Given the description of an element on the screen output the (x, y) to click on. 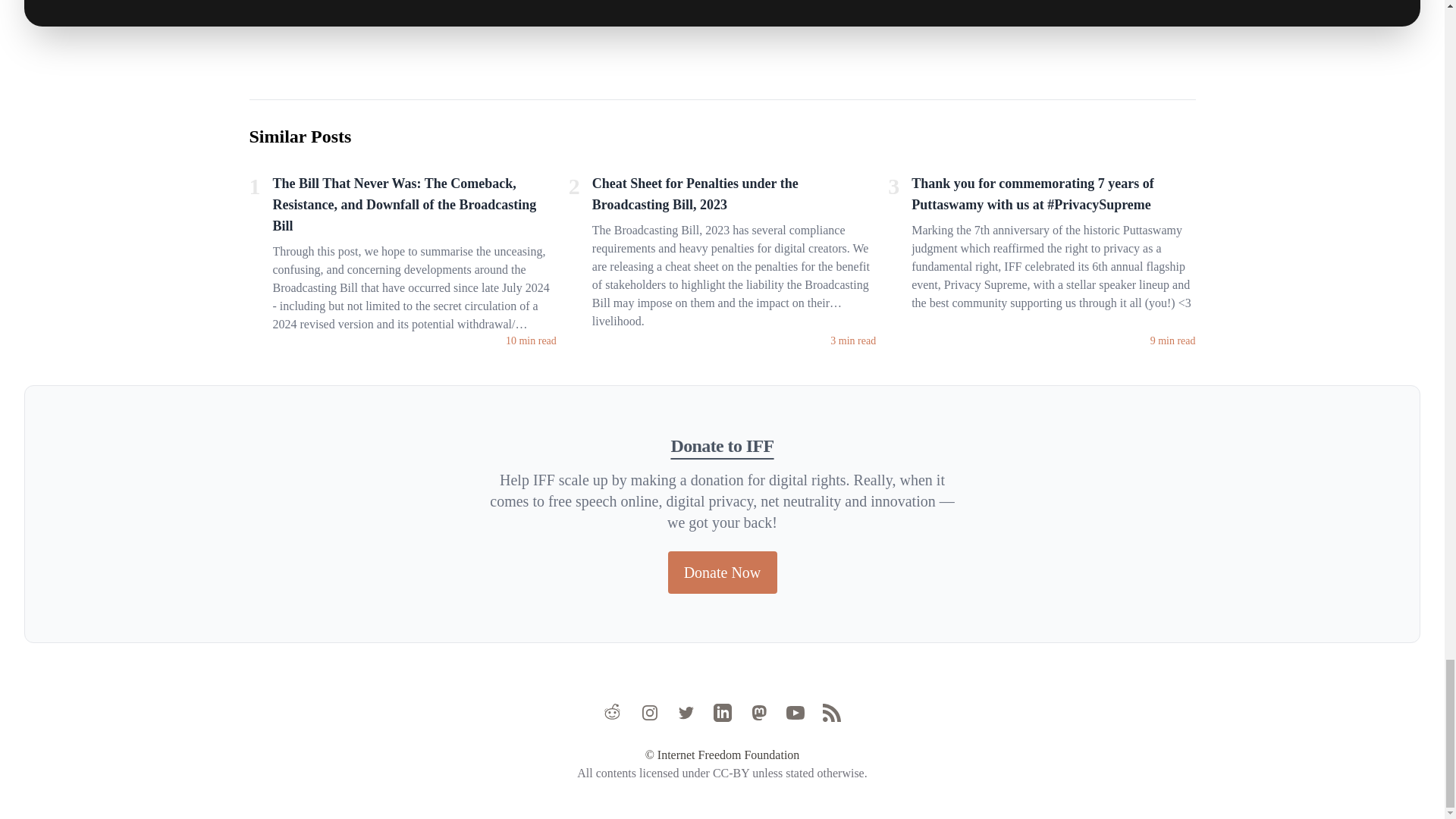
Twitter (685, 712)
Reddit (612, 712)
Linkedin (721, 712)
Mastodon (758, 712)
Youtube (794, 712)
Instagram (649, 712)
RSS (831, 712)
Cheat Sheet for Penalties under the Broadcasting Bill, 2023 (734, 196)
Donate Now (721, 572)
